Given the description of an element on the screen output the (x, y) to click on. 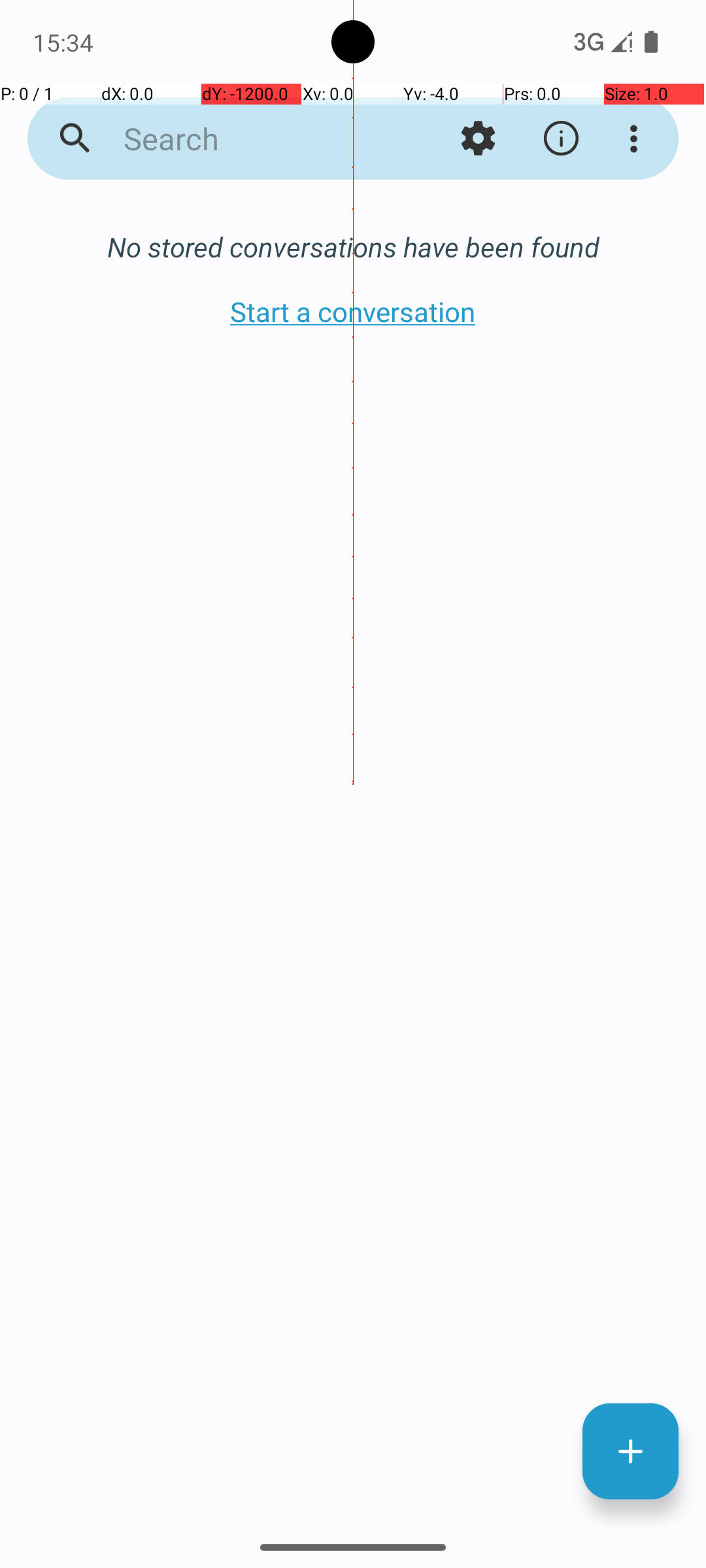
No stored conversations have been found Element type: android.widget.TextView (353, 246)
Start a conversation Element type: android.widget.TextView (352, 311)
